Given the description of an element on the screen output the (x, y) to click on. 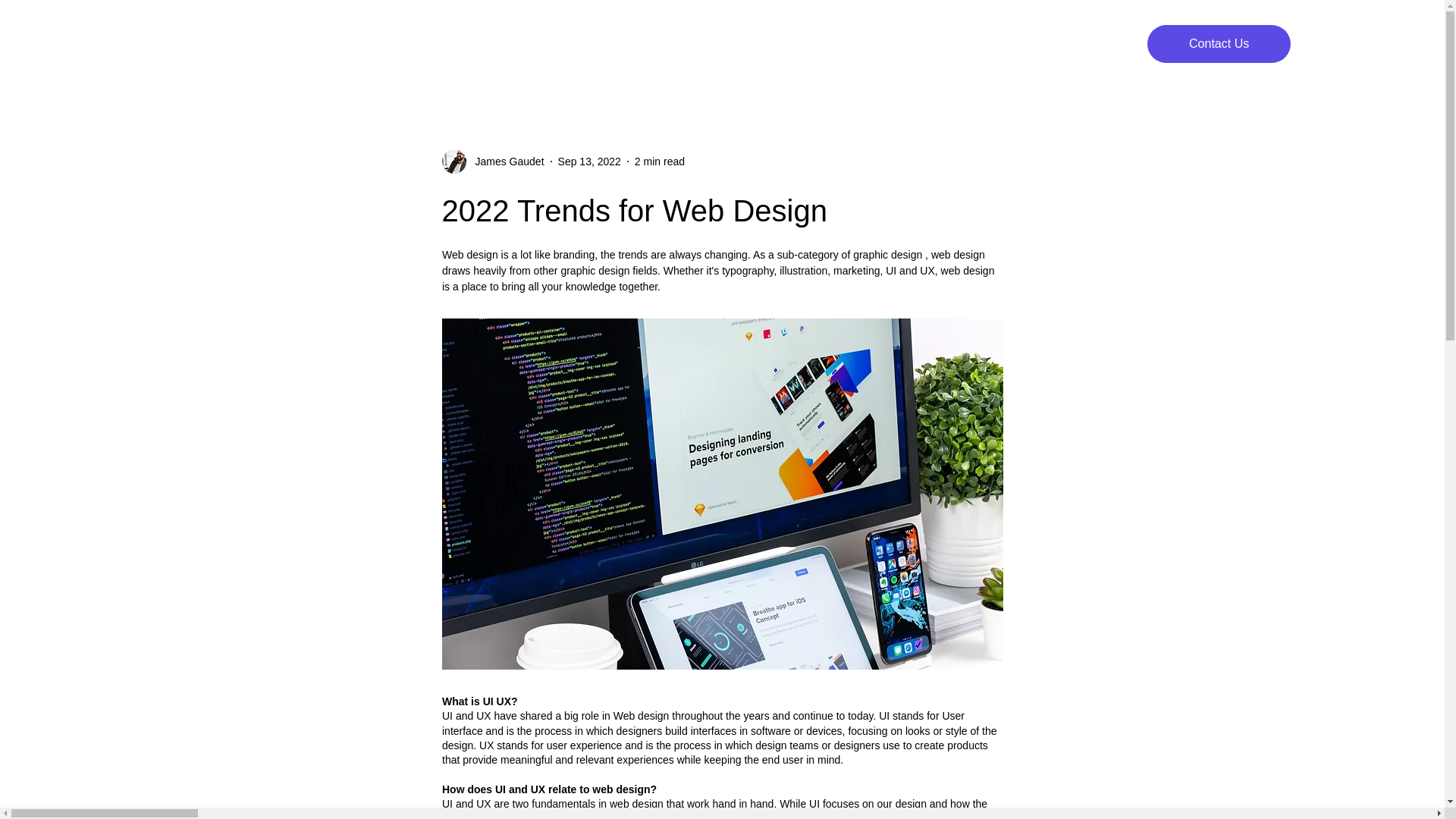
Services (800, 44)
Contact Us (1218, 44)
Blog (1032, 44)
Graphic Design Halifax (526, 43)
James Gaudet (504, 160)
2 min read (659, 160)
Portfolio (922, 44)
Sep 13, 2022 (589, 160)
